Given the description of an element on the screen output the (x, y) to click on. 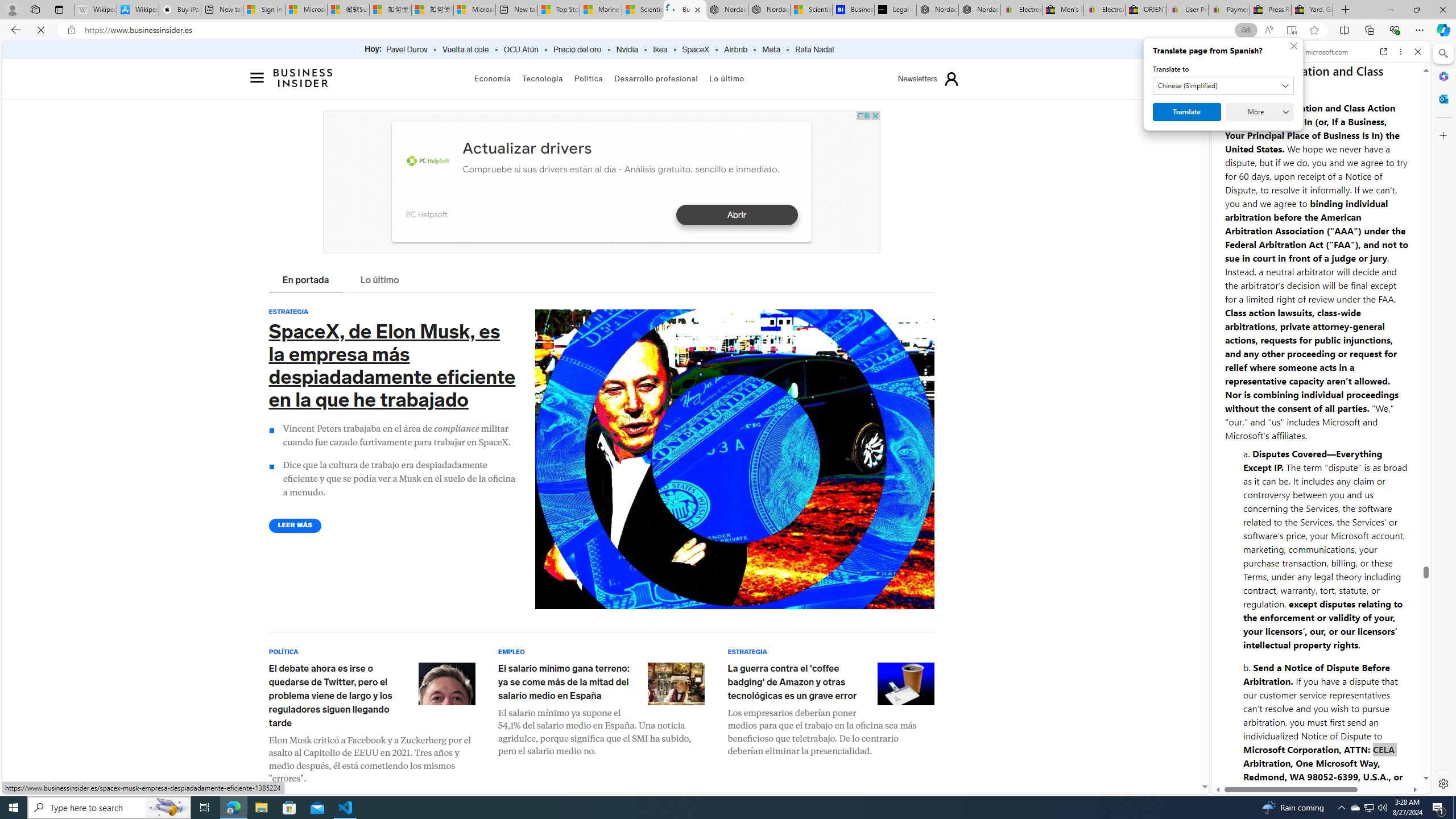
Ikea (660, 49)
Logo BusinessInsider.es (303, 80)
Yard, Garden & Outdoor Living (1312, 9)
Precio del oro (576, 49)
Ikea (659, 49)
